Given the description of an element on the screen output the (x, y) to click on. 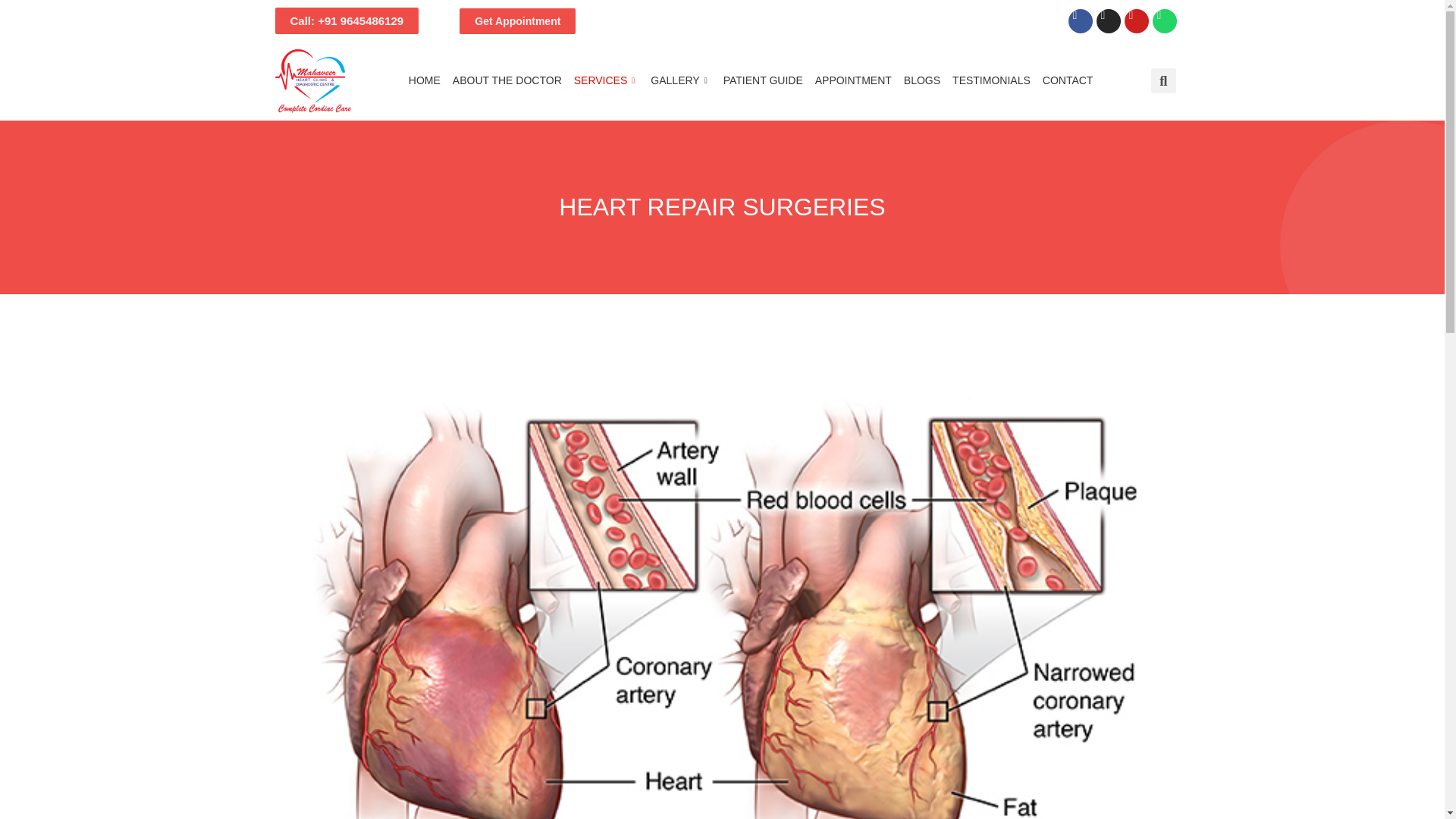
Get Appointment (517, 20)
PATIENT GUIDE (763, 80)
GALLERY (680, 80)
SERVICES (606, 80)
APPOINTMENT (853, 80)
ABOUT THE DOCTOR (506, 80)
